Given the description of an element on the screen output the (x, y) to click on. 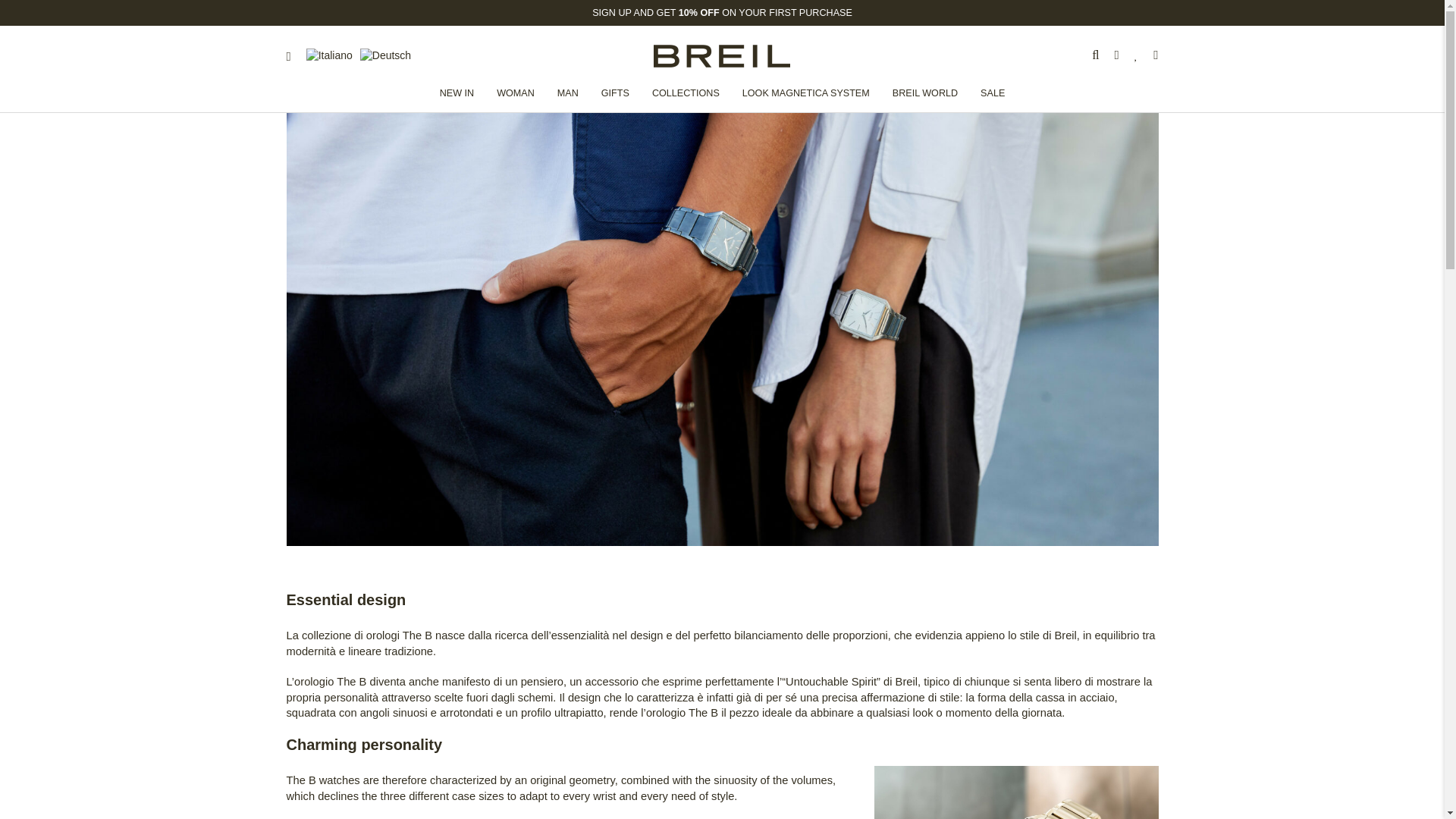
The B - Breil Orologi e Gioielli (1015, 792)
NEW IN (456, 93)
WOMAN (515, 93)
MAN (567, 93)
